Given the description of an element on the screen output the (x, y) to click on. 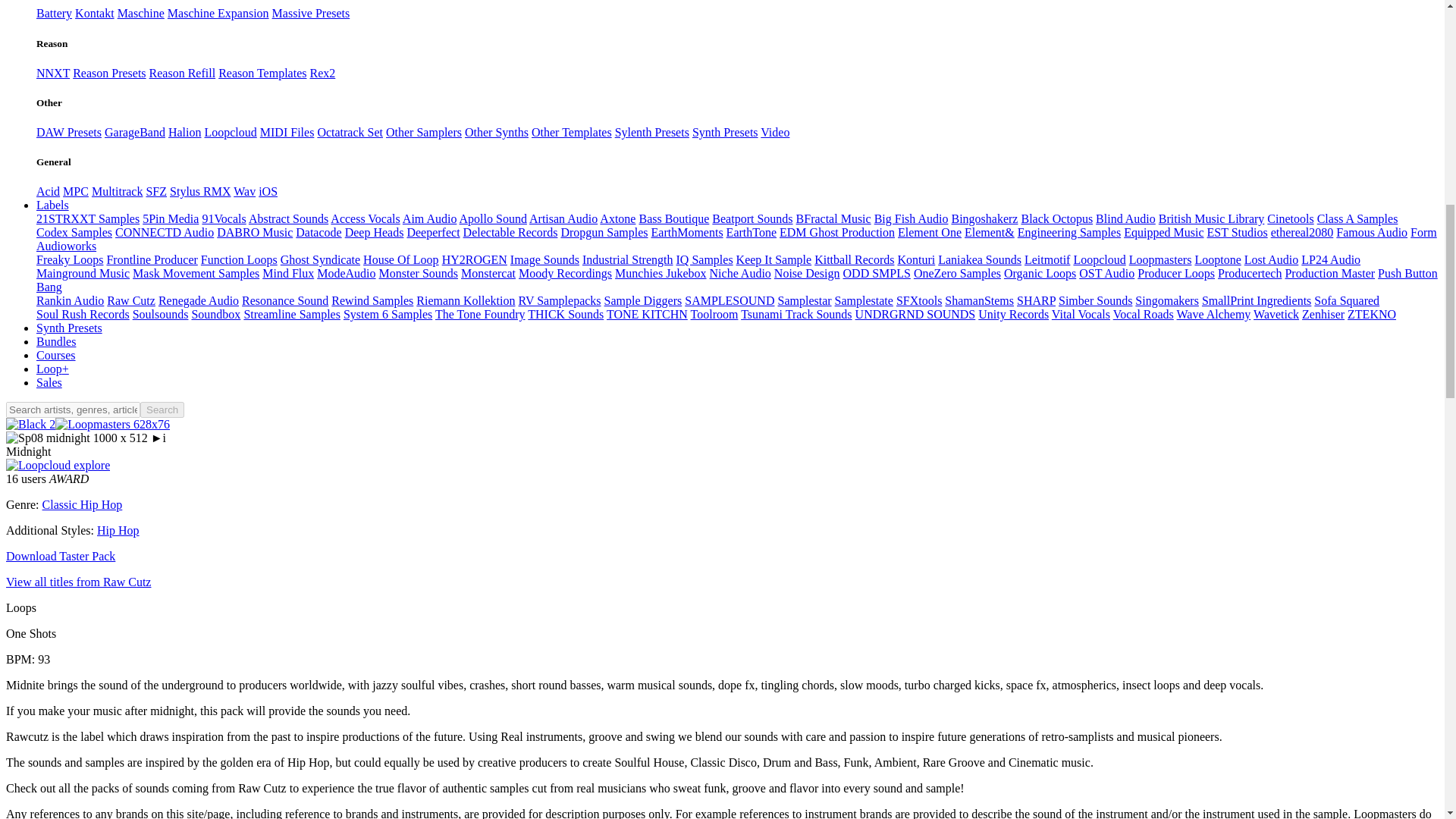
Search (161, 409)
